Given the description of an element on the screen output the (x, y) to click on. 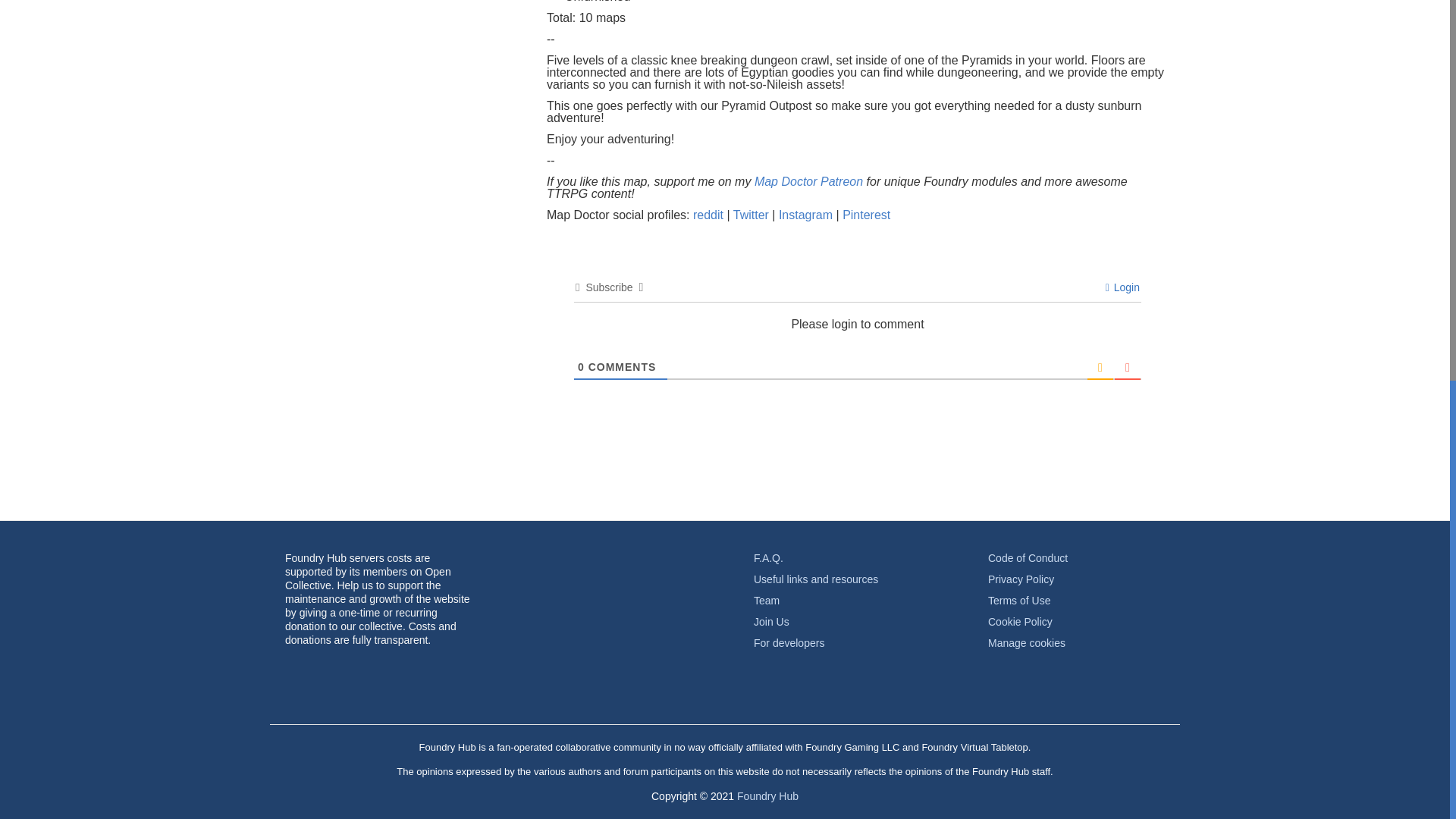
Login (1122, 287)
Twitter (753, 214)
reddit (709, 214)
Pinterest (866, 214)
Instagram (806, 214)
Map Doctor Patreon (808, 181)
